Given the description of an element on the screen output the (x, y) to click on. 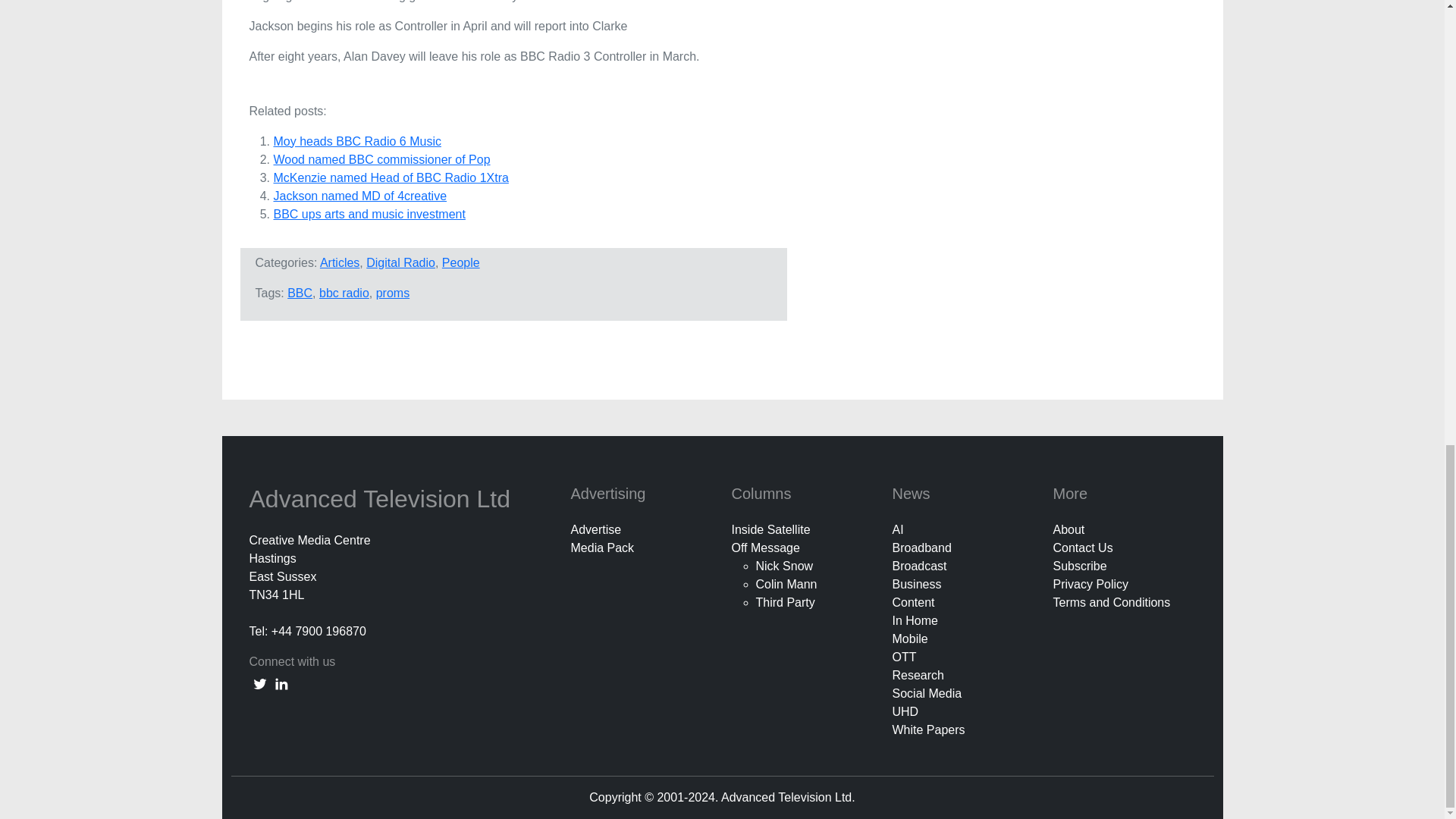
Wood named BBC commissioner of Pop (381, 159)
Articles (339, 262)
Moy heads BBC Radio 6 Music (357, 141)
BBC (299, 292)
Advanced Television Ltd  (382, 498)
Jackson named MD of 4creative (359, 195)
Jackson named MD of 4creative (359, 195)
McKenzie named Head of BBC Radio 1Xtra (390, 177)
bbc radio (343, 292)
People (461, 262)
